Given the description of an element on the screen output the (x, y) to click on. 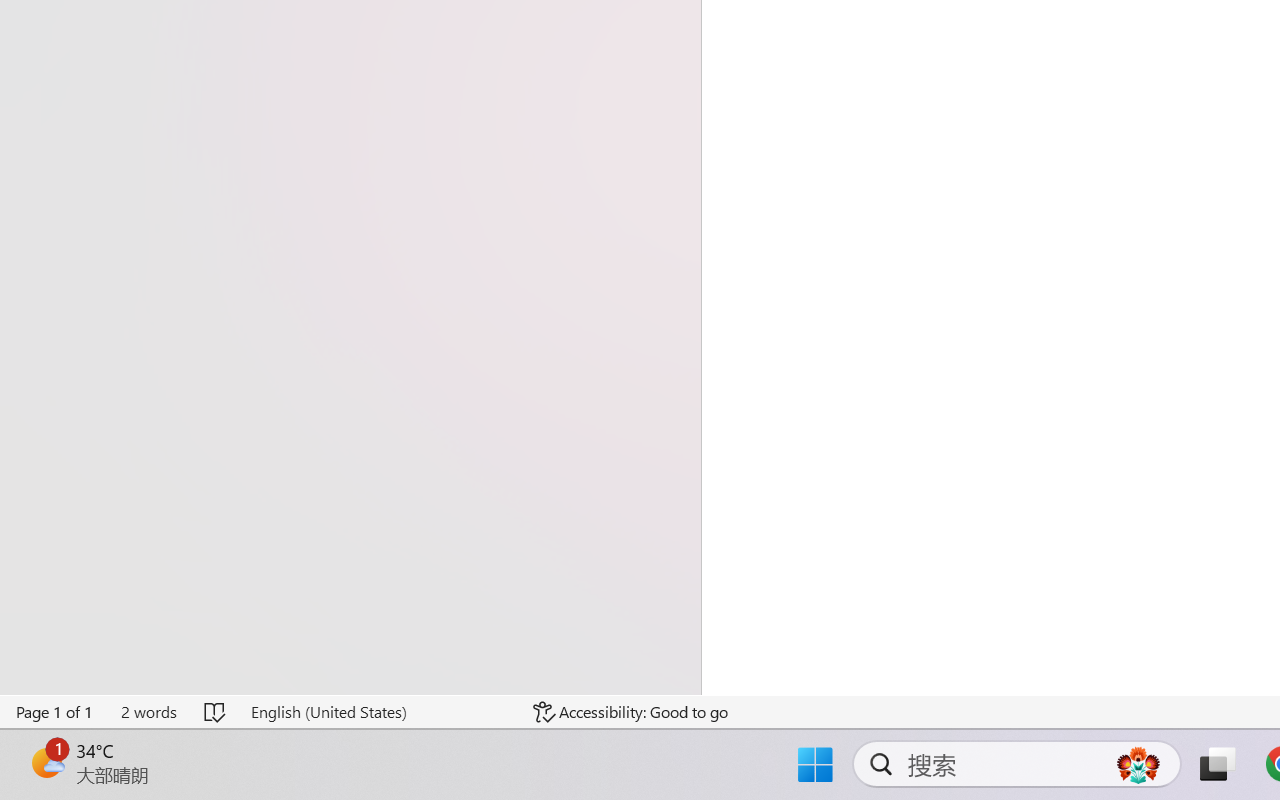
Page Number Page 1 of 1 (55, 712)
